Given the description of an element on the screen output the (x, y) to click on. 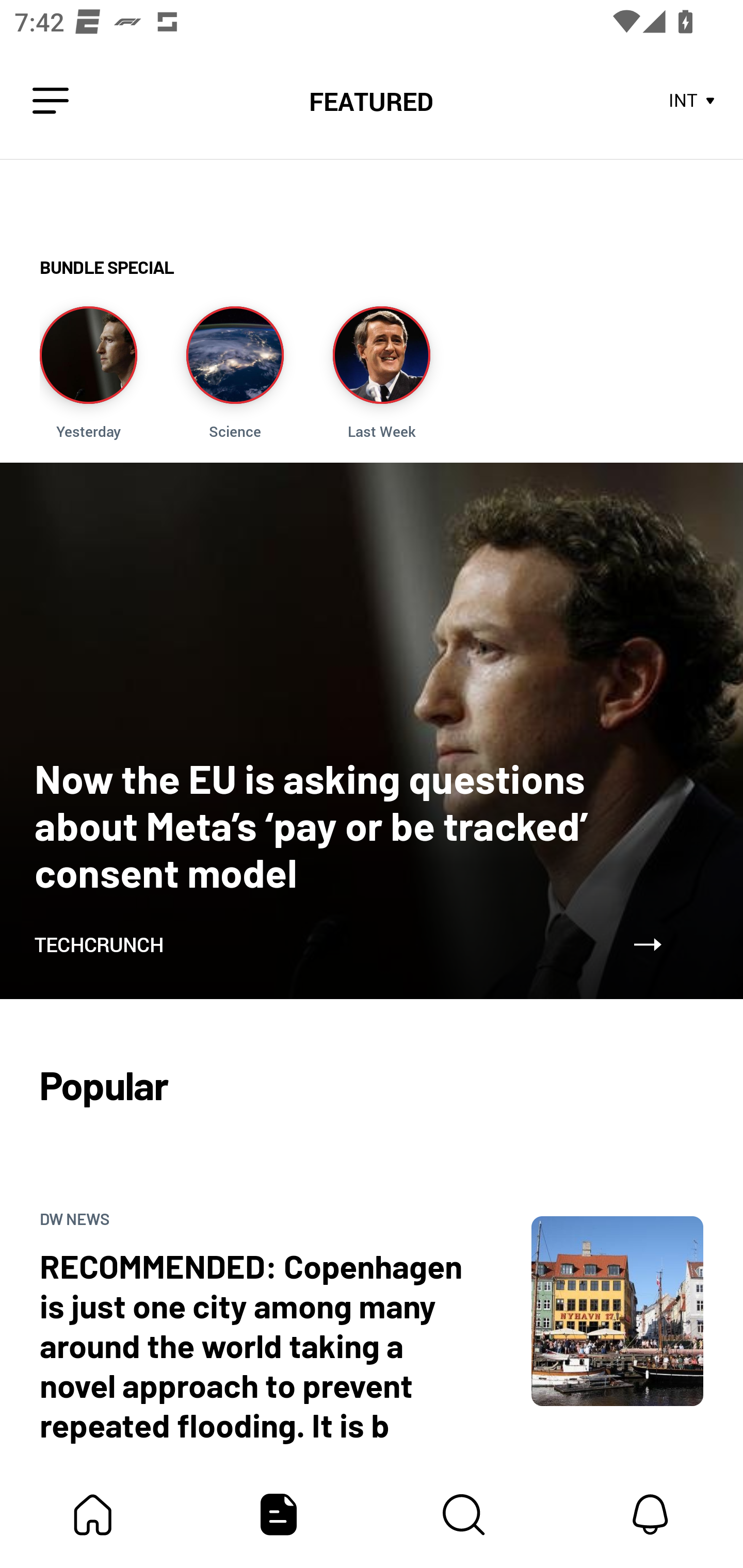
Leading Icon (50, 101)
INT Store Area (692, 101)
Story Image Yesterday (88, 372)
Story Image Science (234, 372)
Story Image Last Week (381, 372)
My Bundle (92, 1514)
Content Store (464, 1514)
Notifications (650, 1514)
